Given the description of an element on the screen output the (x, y) to click on. 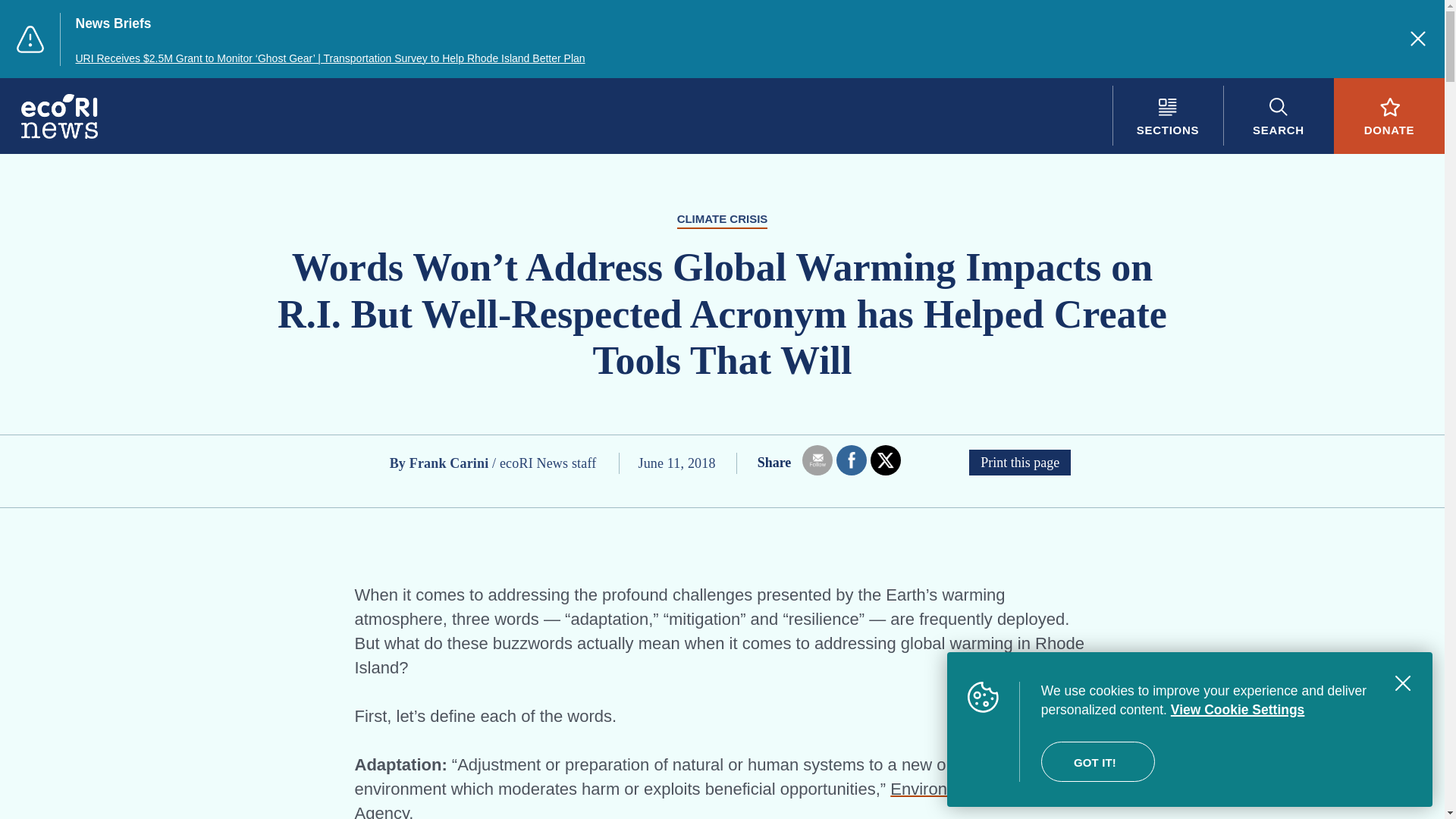
Search Button (1278, 115)
Facebook (851, 460)
SECTIONS (1167, 115)
Alert (29, 39)
Close view (1402, 683)
Close (1417, 38)
Twitter (885, 460)
